Given the description of an element on the screen output the (x, y) to click on. 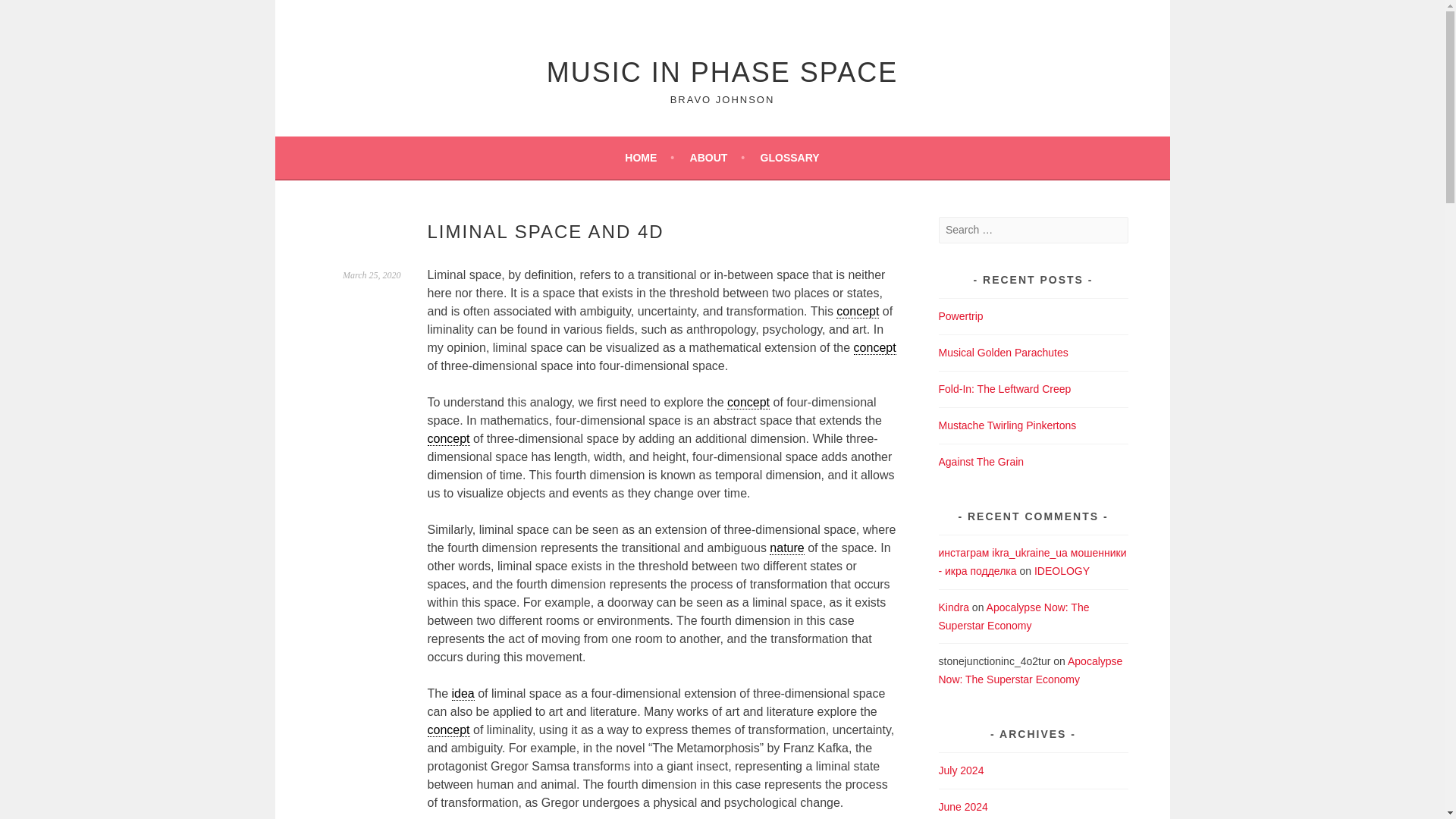
concept (449, 730)
Musical Golden Parachutes (1003, 352)
Fold-In: The Leftward Creep (1005, 388)
ABOUT (717, 157)
June 2024 (963, 806)
nature (786, 548)
idea (462, 694)
Mustache Twirling Pinkertons (1008, 425)
concept (857, 311)
March 25, 2020 (371, 275)
HOME (649, 157)
MUSIC IN PHASE SPACE (722, 71)
IDEOLOGY (1061, 571)
Kindra (954, 606)
July 2024 (961, 770)
